Given the description of an element on the screen output the (x, y) to click on. 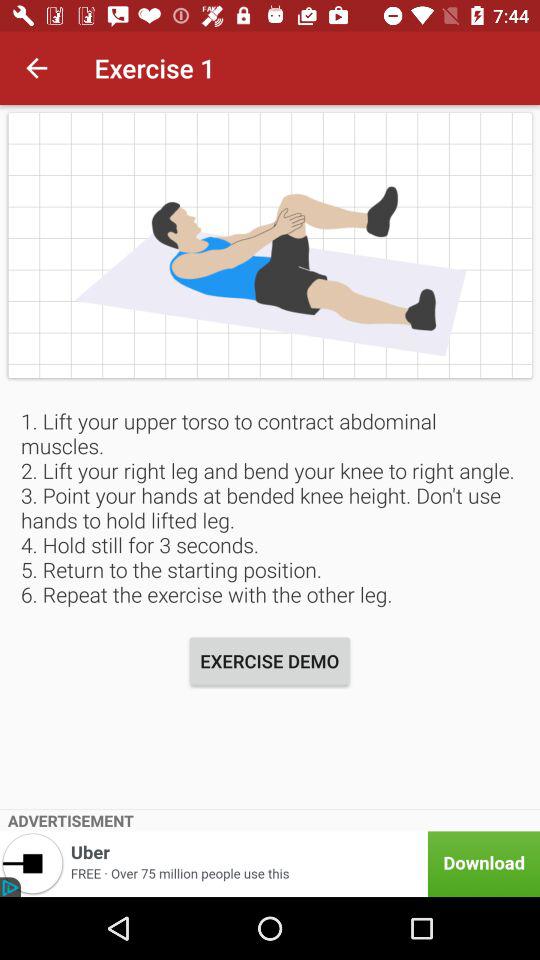
click app to the left of exercise 1 item (36, 68)
